Given the description of an element on the screen output the (x, y) to click on. 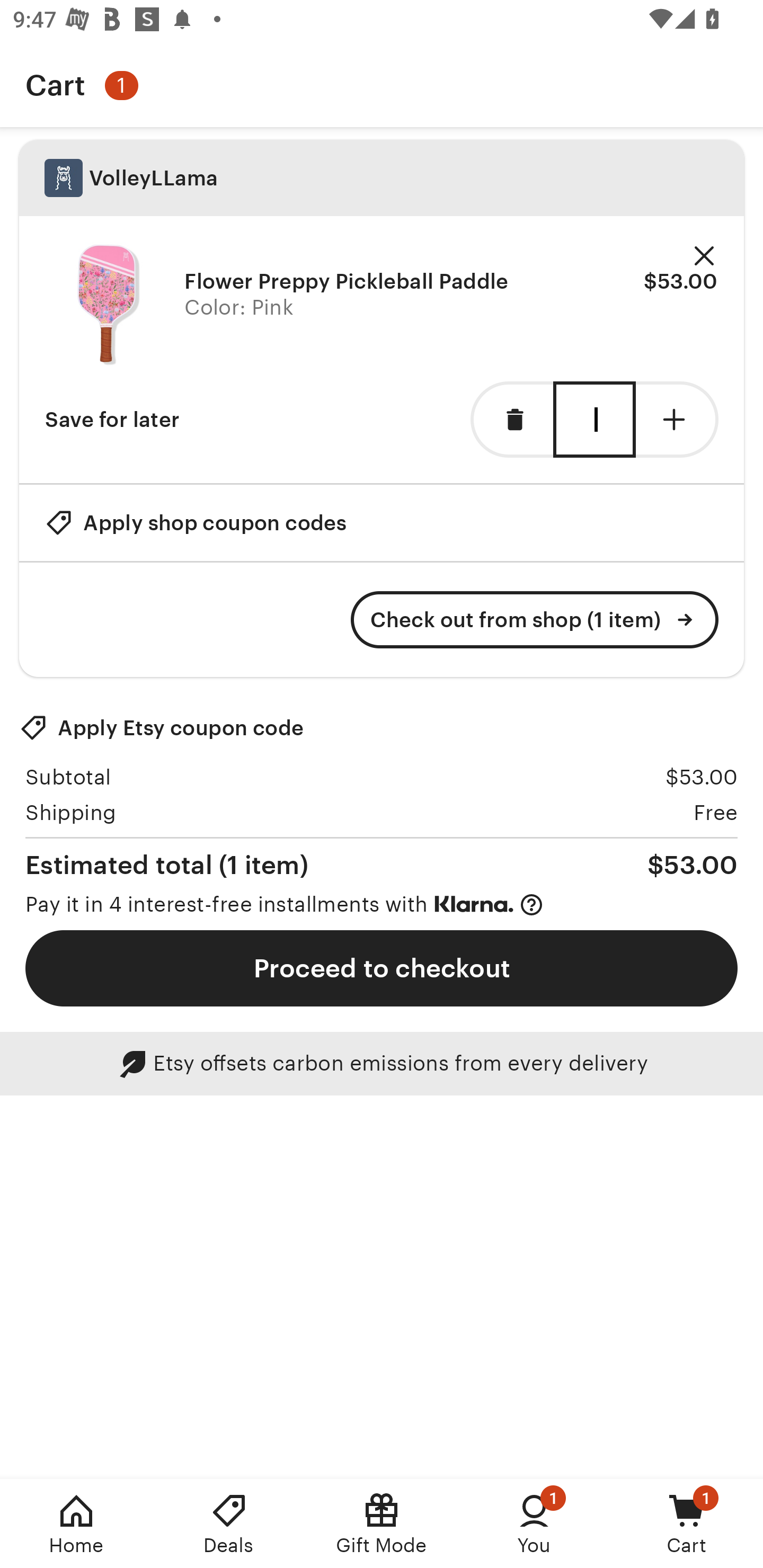
VolleyLLama (381, 177)
Remove (704, 255)
Flower Preppy Pickleball Paddle (107, 304)
Flower Preppy Pickleball Paddle (346, 281)
Save for later (112, 419)
Remove item from cart (511, 419)
Add one unit to cart (676, 419)
Apply shop coupon codes (195, 522)
Check out from shop (1 item) (534, 619)
Apply Etsy coupon code (161, 727)
Proceed to checkout (381, 967)
Home (76, 1523)
Deals (228, 1523)
Gift Mode (381, 1523)
You, 1 new notification You (533, 1523)
